Given the description of an element on the screen output the (x, y) to click on. 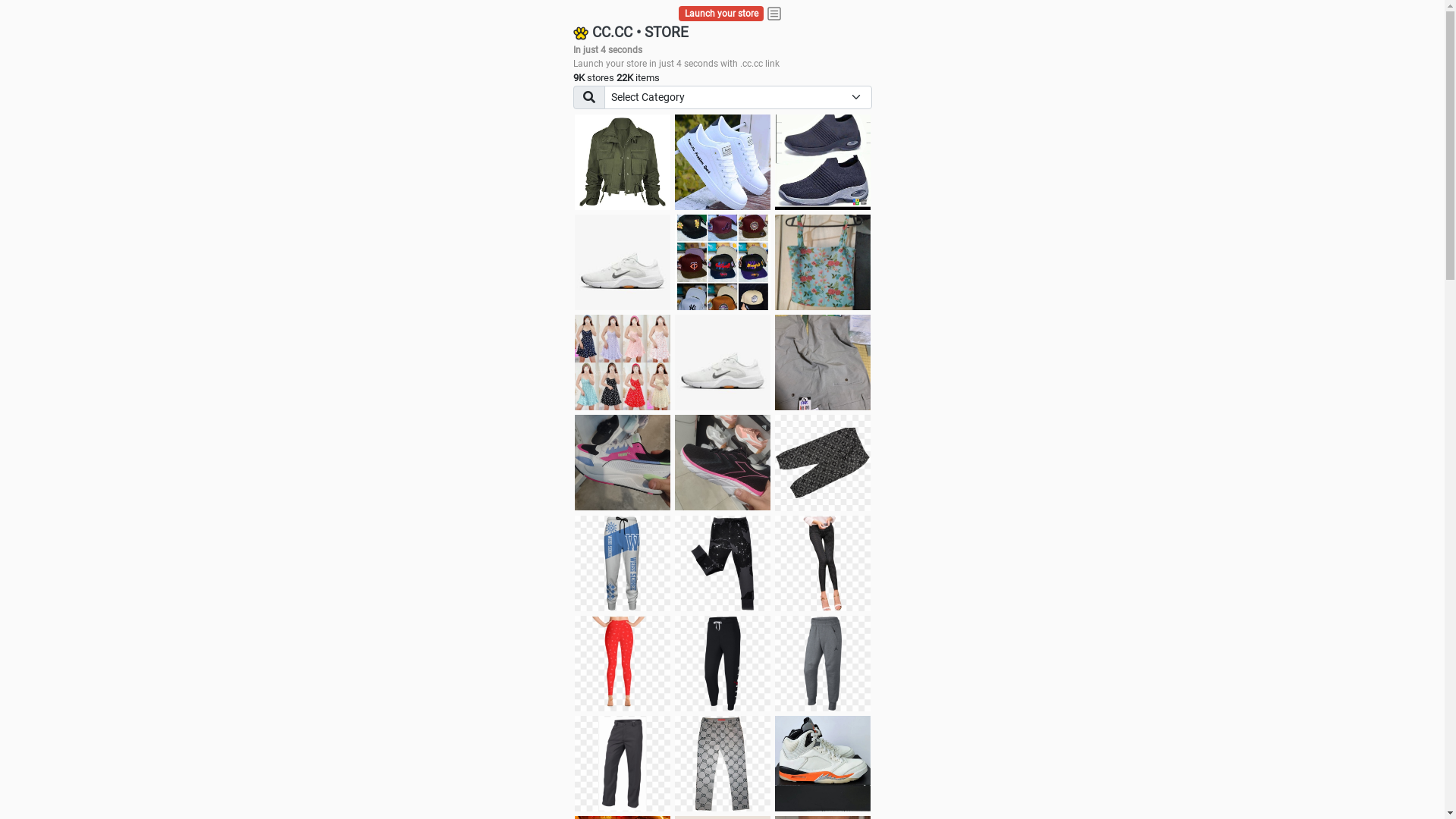
Pant Element type: hover (622, 663)
shoes for boys Element type: hover (822, 162)
Pant Element type: hover (622, 563)
Launch your store Element type: text (721, 13)
Ukay cloth Element type: hover (822, 262)
Pant Element type: hover (822, 563)
Pant Element type: hover (622, 763)
Things we need Element type: hover (722, 262)
Zapatillas Element type: hover (722, 462)
Pant Element type: hover (722, 563)
Pant Element type: hover (822, 663)
jacket Element type: hover (622, 162)
white shoes Element type: hover (722, 162)
Shoe Element type: hover (822, 763)
Short pant Element type: hover (822, 462)
Pant Element type: hover (722, 663)
Dress/square nect top Element type: hover (622, 362)
Pant Element type: hover (722, 763)
Shoes Element type: hover (722, 362)
Shoes for boys Element type: hover (622, 262)
Zapatillas pumas Element type: hover (622, 462)
